Given the description of an element on the screen output the (x, y) to click on. 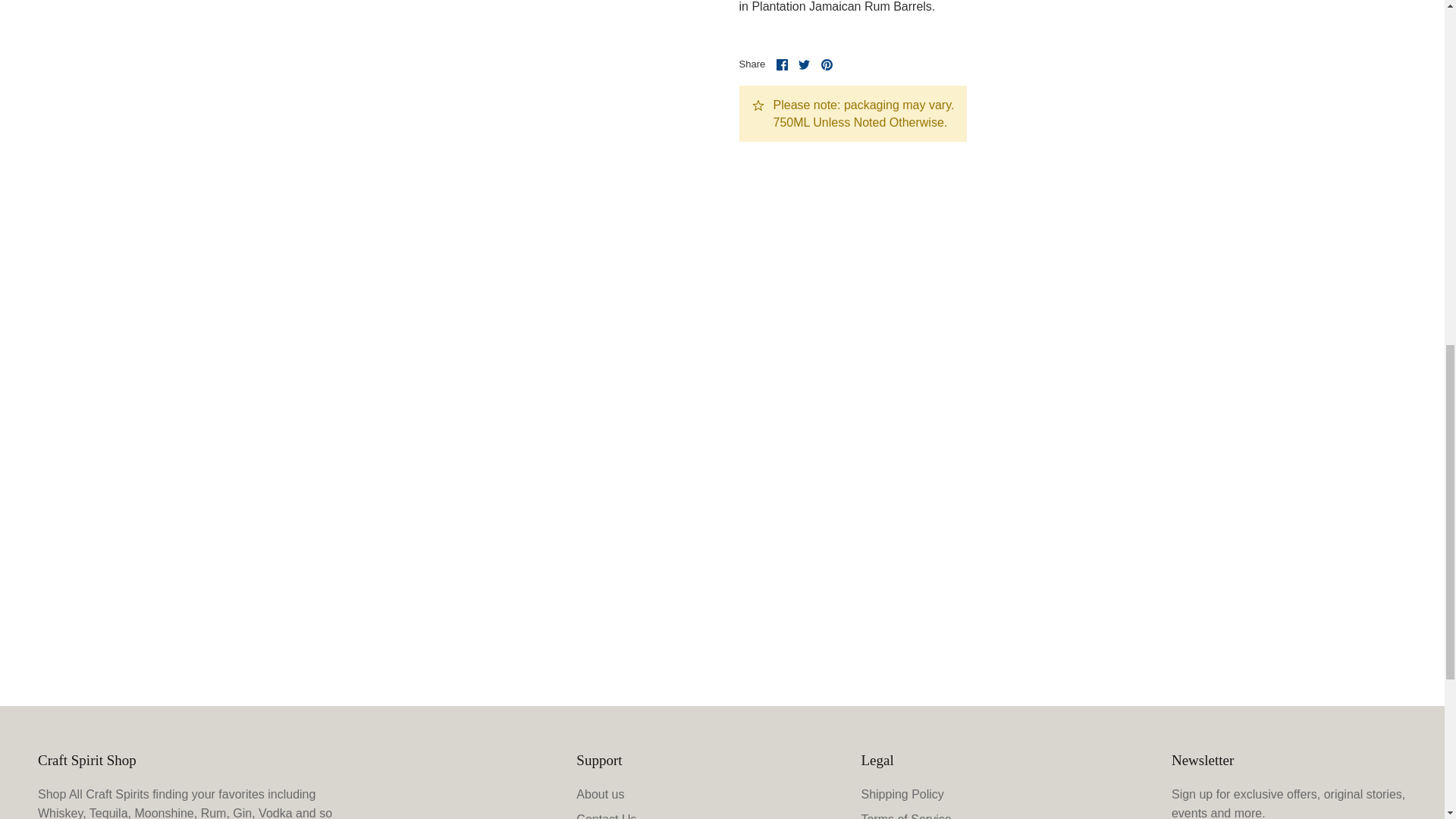
Pinterest (826, 64)
Facebook (781, 64)
Twitter (803, 64)
